Given the description of an element on the screen output the (x, y) to click on. 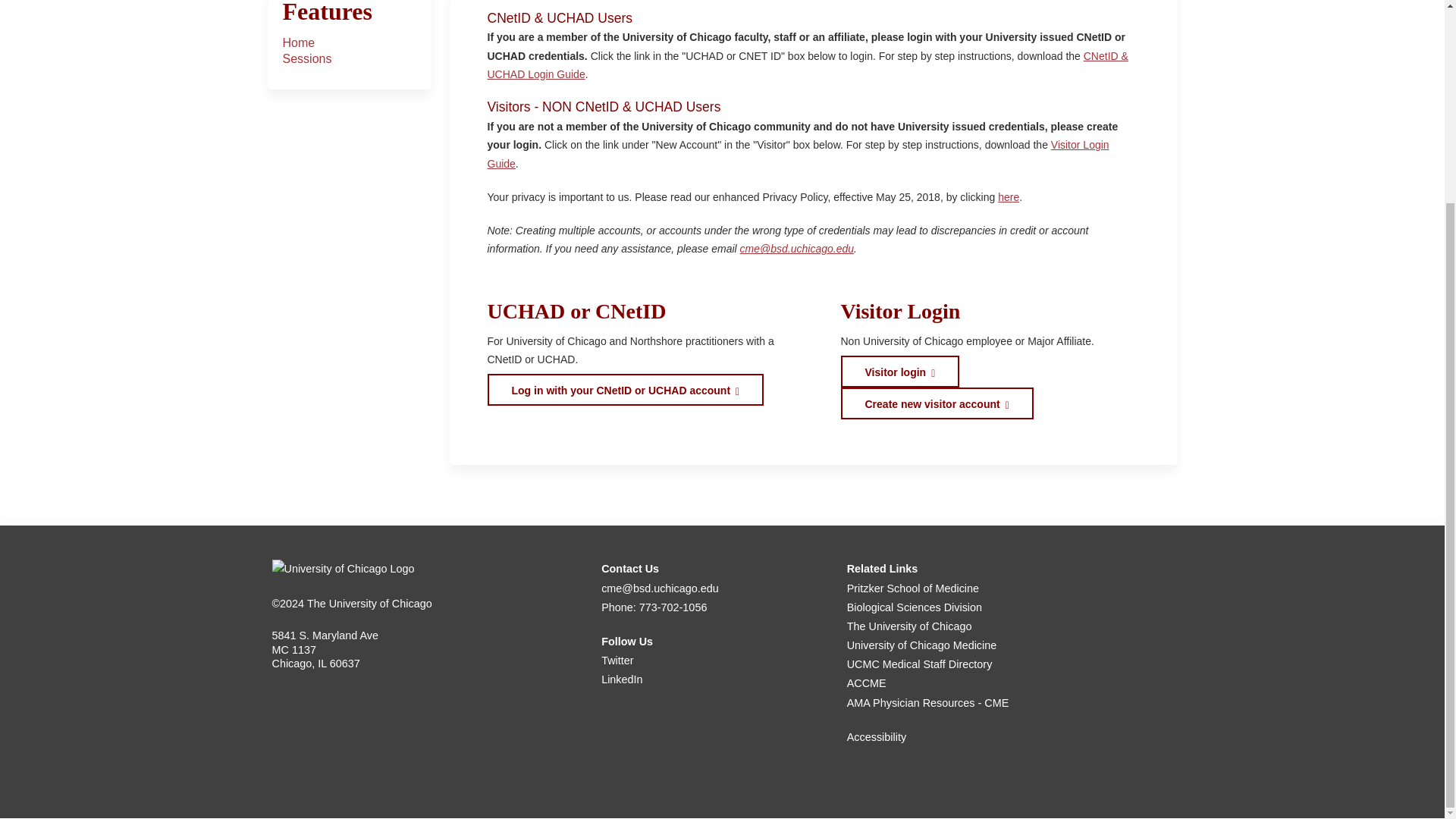
here (1008, 196)
Visitor Login Guide (797, 153)
University of Chicago (341, 568)
Visitor login (899, 371)
Create new visitor account (936, 403)
Log in with your CNetID or UCHAD account (624, 389)
